Given the description of an element on the screen output the (x, y) to click on. 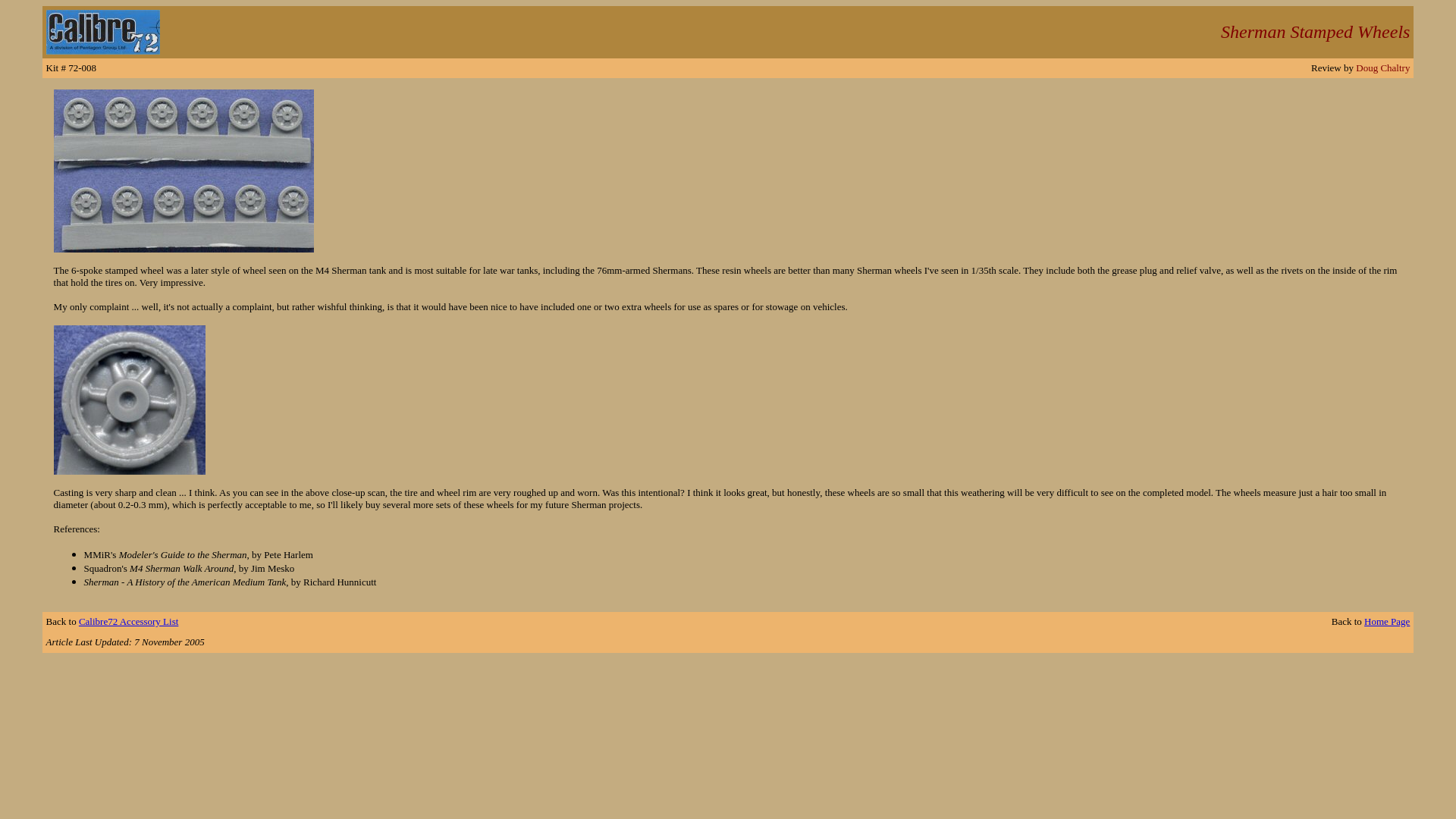
Home Page (1386, 620)
Calibre72 Accessory List (127, 620)
